Given the description of an element on the screen output the (x, y) to click on. 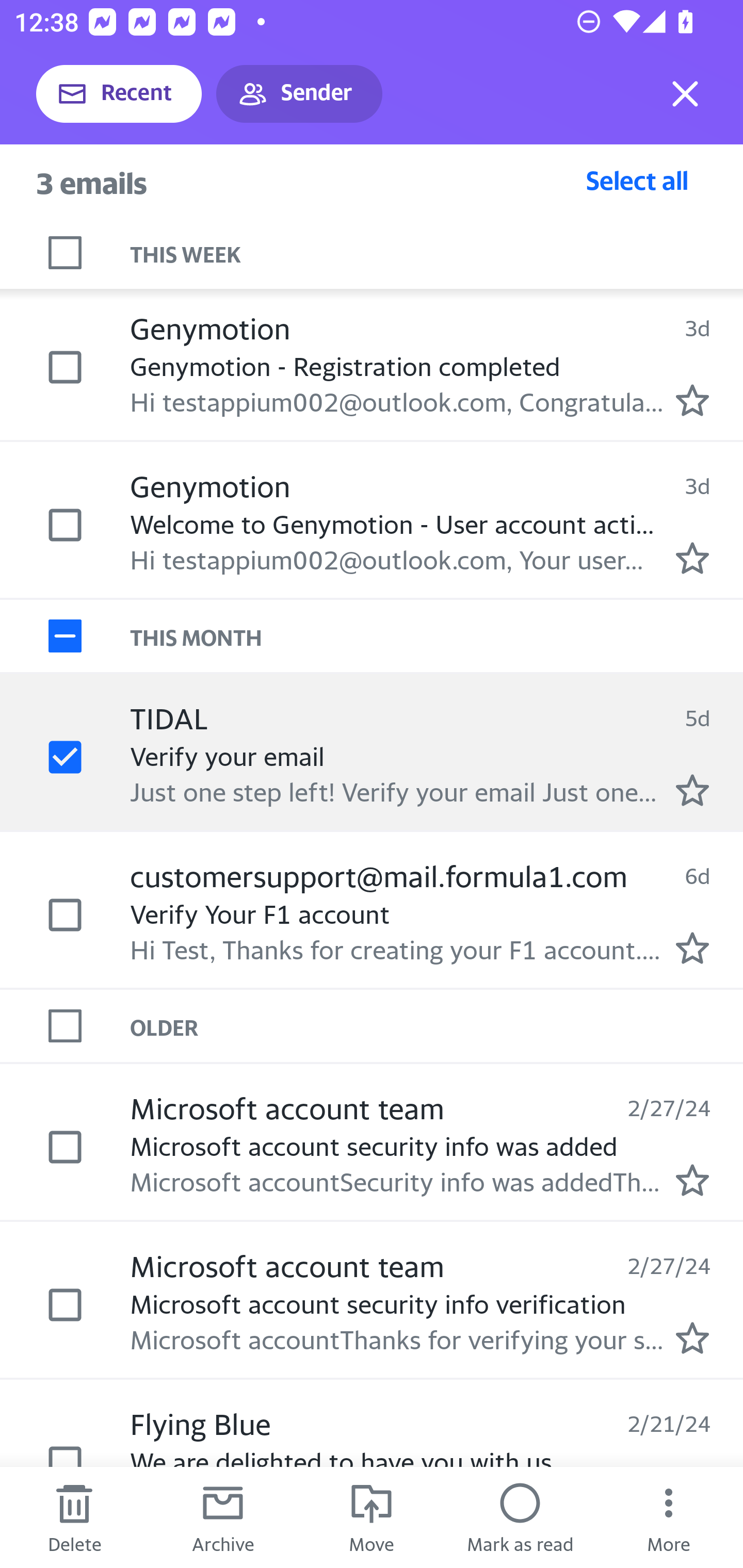
Sender (299, 93)
Exit selection mode (684, 93)
Select all (637, 180)
Mark as starred. (692, 400)
Mark as starred. (692, 557)
THIS MONTH (436, 635)
Mark as starred. (692, 789)
Mark as starred. (692, 947)
OLDER (436, 1025)
Mark as starred. (692, 1179)
Mark as starred. (692, 1338)
Delete (74, 1517)
Archive (222, 1517)
Move (371, 1517)
Mark as read (519, 1517)
More (668, 1517)
